Given the description of an element on the screen output the (x, y) to click on. 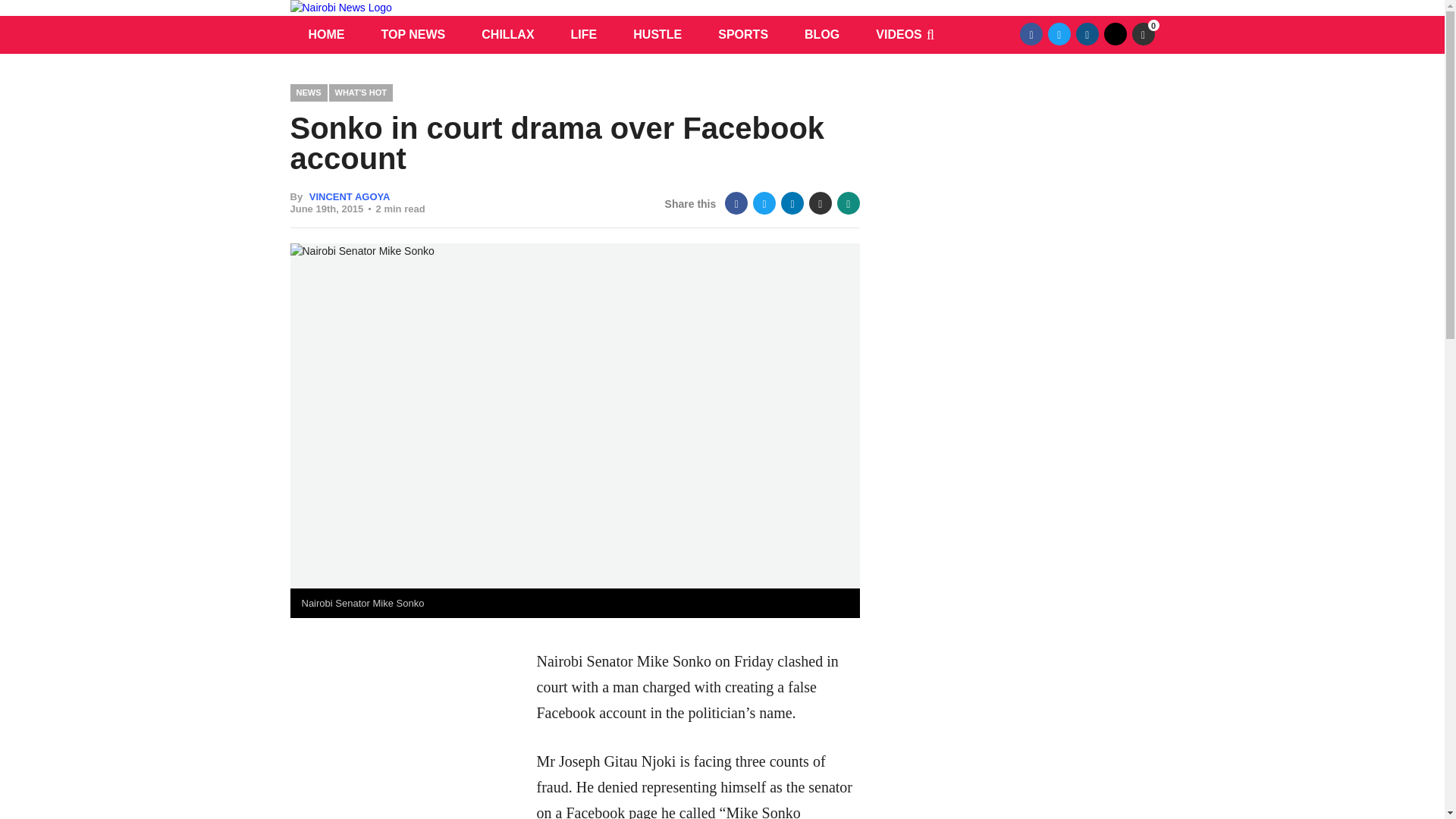
Email (820, 201)
Instagram (1087, 33)
CHILLAX (507, 34)
Facebook (736, 201)
0 (1142, 33)
SPORTS (743, 34)
NEWS (307, 92)
Twitter (764, 201)
TikTok (1114, 33)
Twitter (1059, 33)
